Given the description of an element on the screen output the (x, y) to click on. 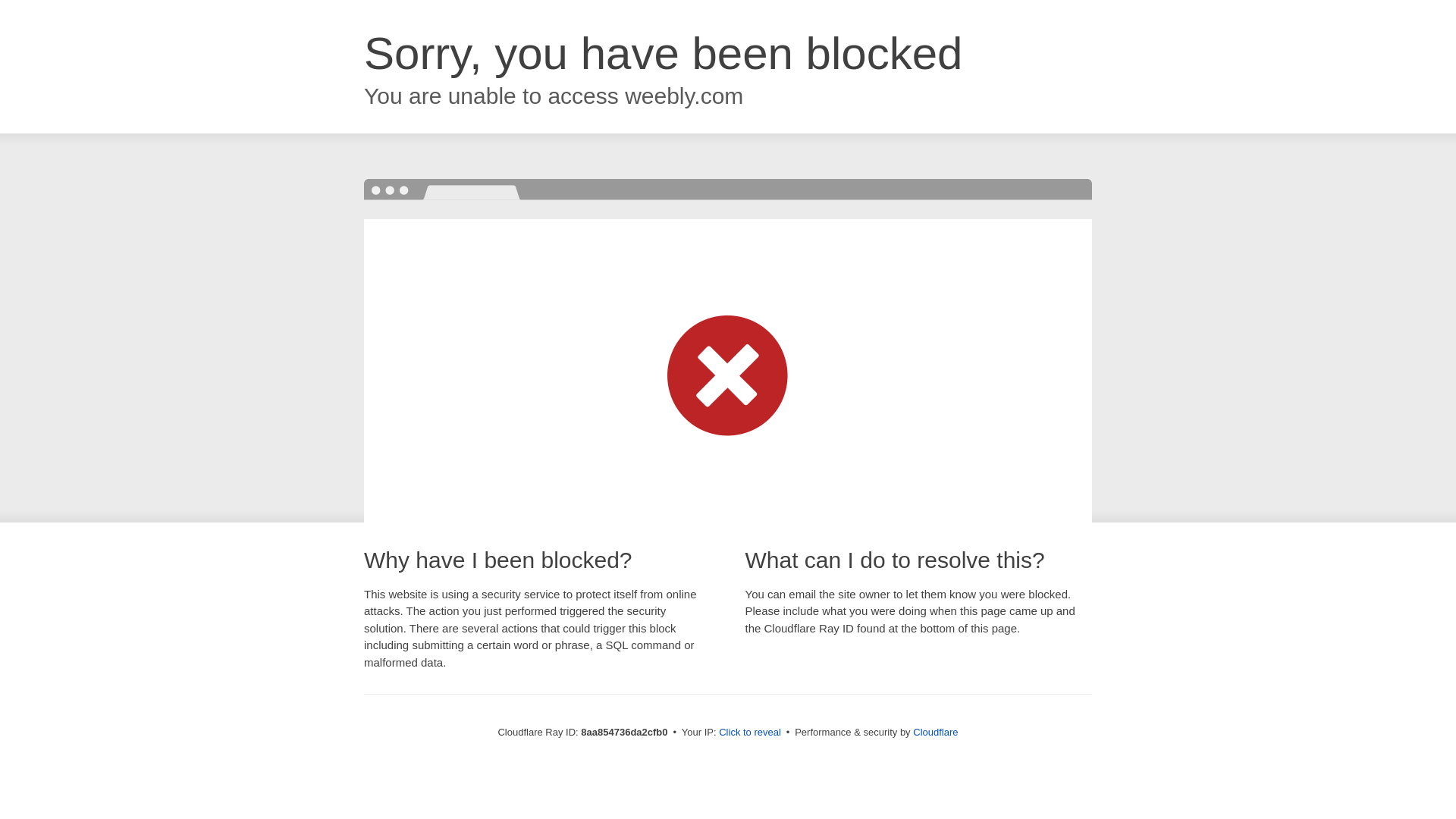
Cloudflare (935, 731)
Click to reveal (749, 732)
